Given the description of an element on the screen output the (x, y) to click on. 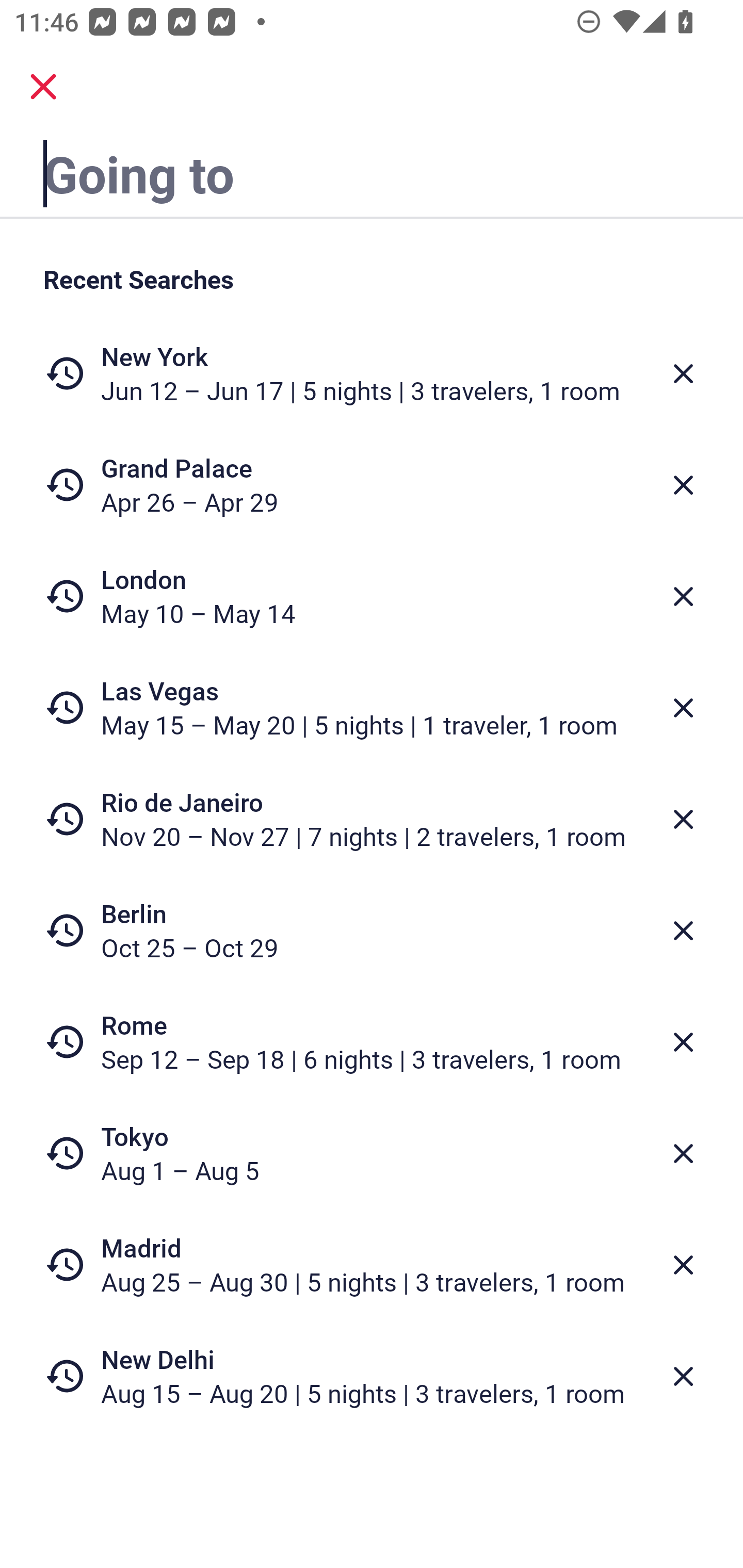
close. (43, 86)
Delete from recent searches (683, 373)
Grand Palace Apr 26 – Apr 29 (371, 484)
Delete from recent searches (683, 485)
London May 10 – May 14 (371, 596)
Delete from recent searches (683, 596)
Delete from recent searches (683, 707)
Delete from recent searches (683, 819)
Berlin Oct 25 – Oct 29 (371, 930)
Delete from recent searches (683, 930)
Delete from recent searches (683, 1041)
Tokyo Aug 1 – Aug 5 (371, 1152)
Delete from recent searches (683, 1153)
Delete from recent searches (683, 1265)
Delete from recent searches (683, 1376)
